Given the description of an element on the screen output the (x, y) to click on. 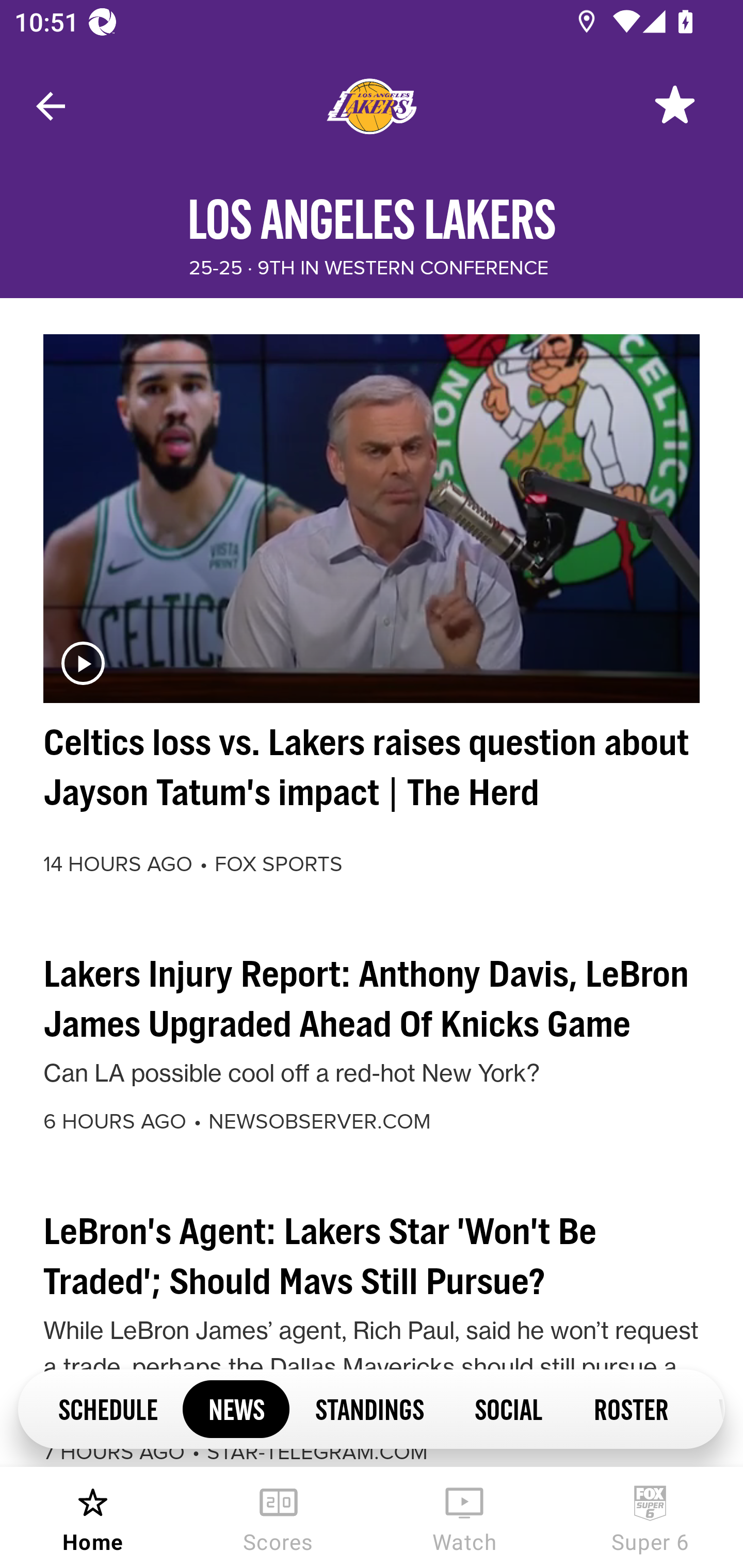
Navigate up (50, 106)
25-25 · 9TH IN WESTERN CONFERENCE (368, 267)
SCHEDULE (107, 1408)
STANDINGS (369, 1408)
SOCIAL (508, 1408)
ROSTER (630, 1408)
Scores (278, 1517)
Watch (464, 1517)
Super 6 (650, 1517)
